Given the description of an element on the screen output the (x, y) to click on. 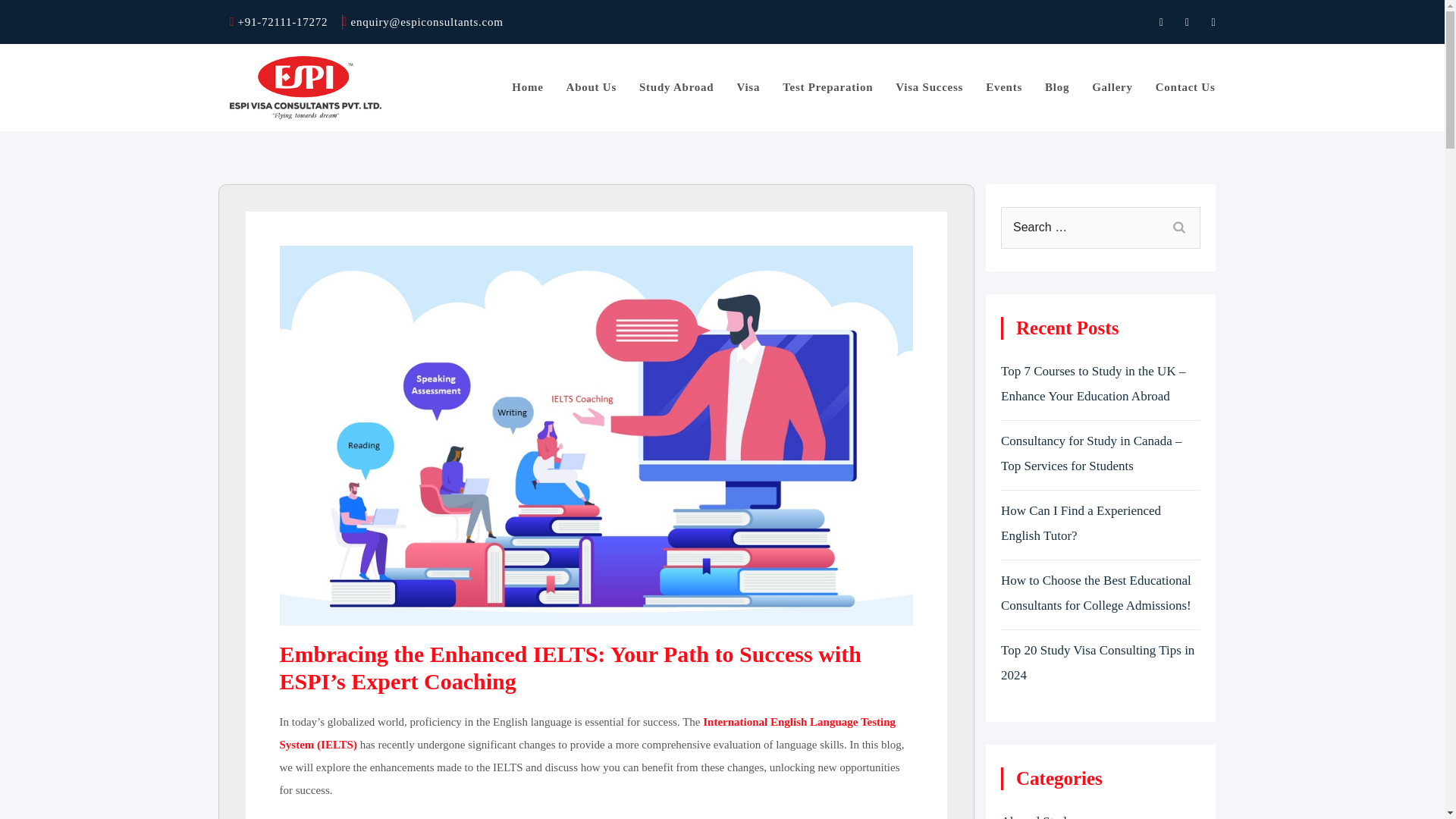
Blog (1056, 87)
Test Preparation (827, 87)
Contact Us (1185, 87)
Visa Success (928, 87)
Events (1003, 87)
Gallery (1112, 87)
Visa (748, 87)
About Us (590, 87)
Home (527, 87)
Study Abroad (676, 87)
Best IELTS Coaching in Vadodara (587, 733)
